Given the description of an element on the screen output the (x, y) to click on. 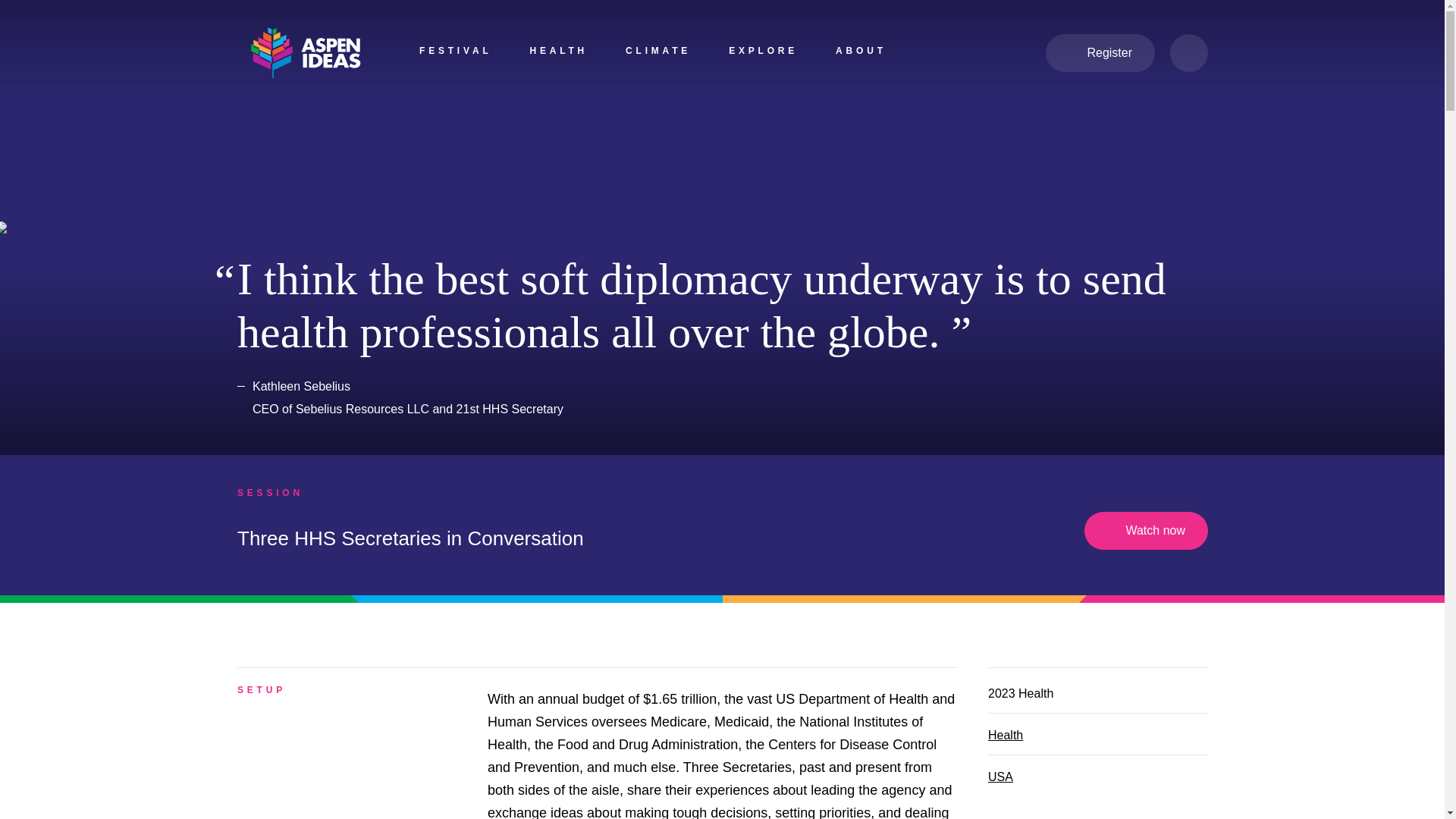
HEALTH (558, 52)
Register (1099, 53)
CLIMATE (658, 52)
EXPLORE (763, 52)
FESTIVAL (455, 52)
ABOUT (860, 52)
